Given the description of an element on the screen output the (x, y) to click on. 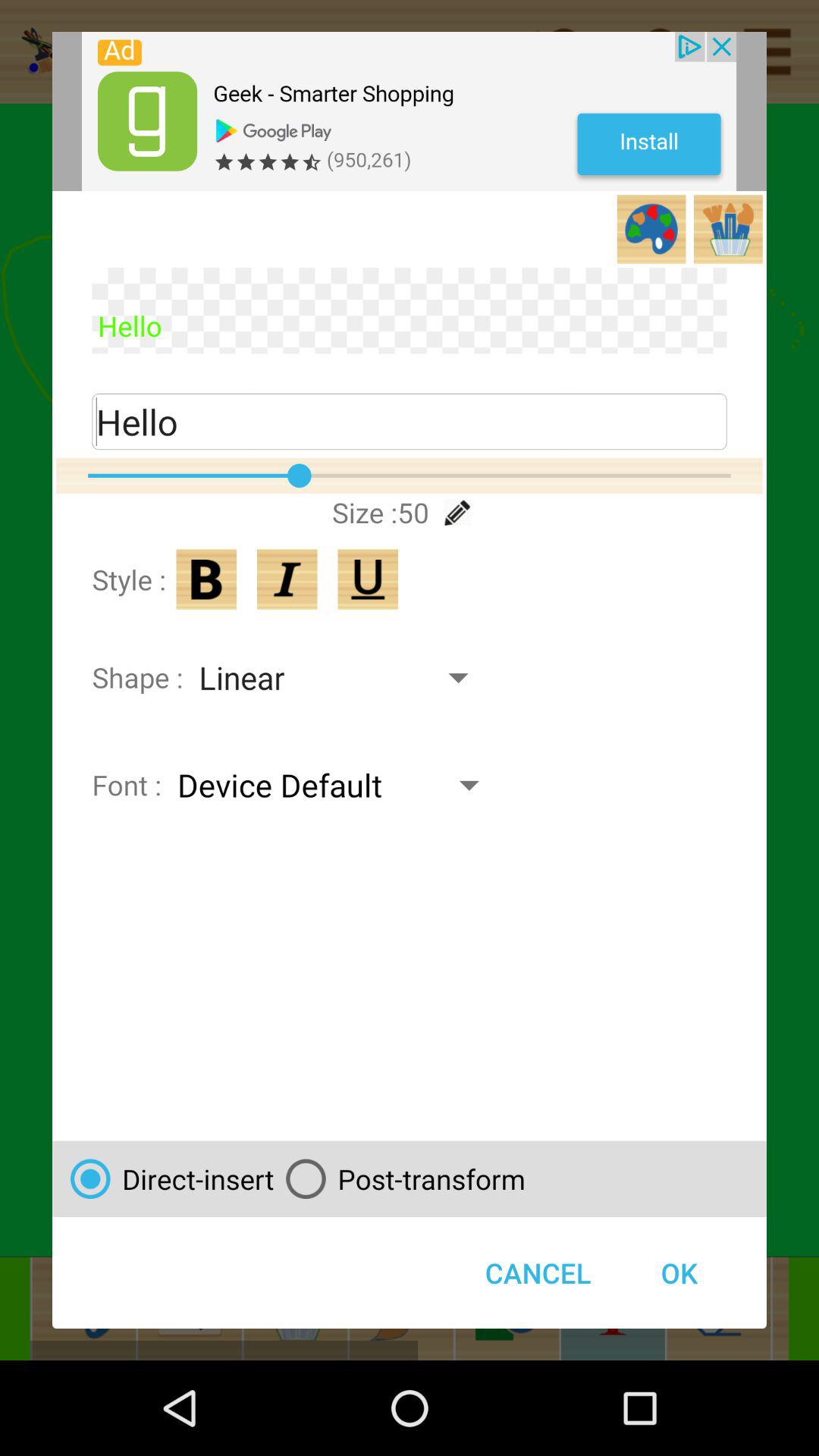
bold (206, 579)
